Given the description of an element on the screen output the (x, y) to click on. 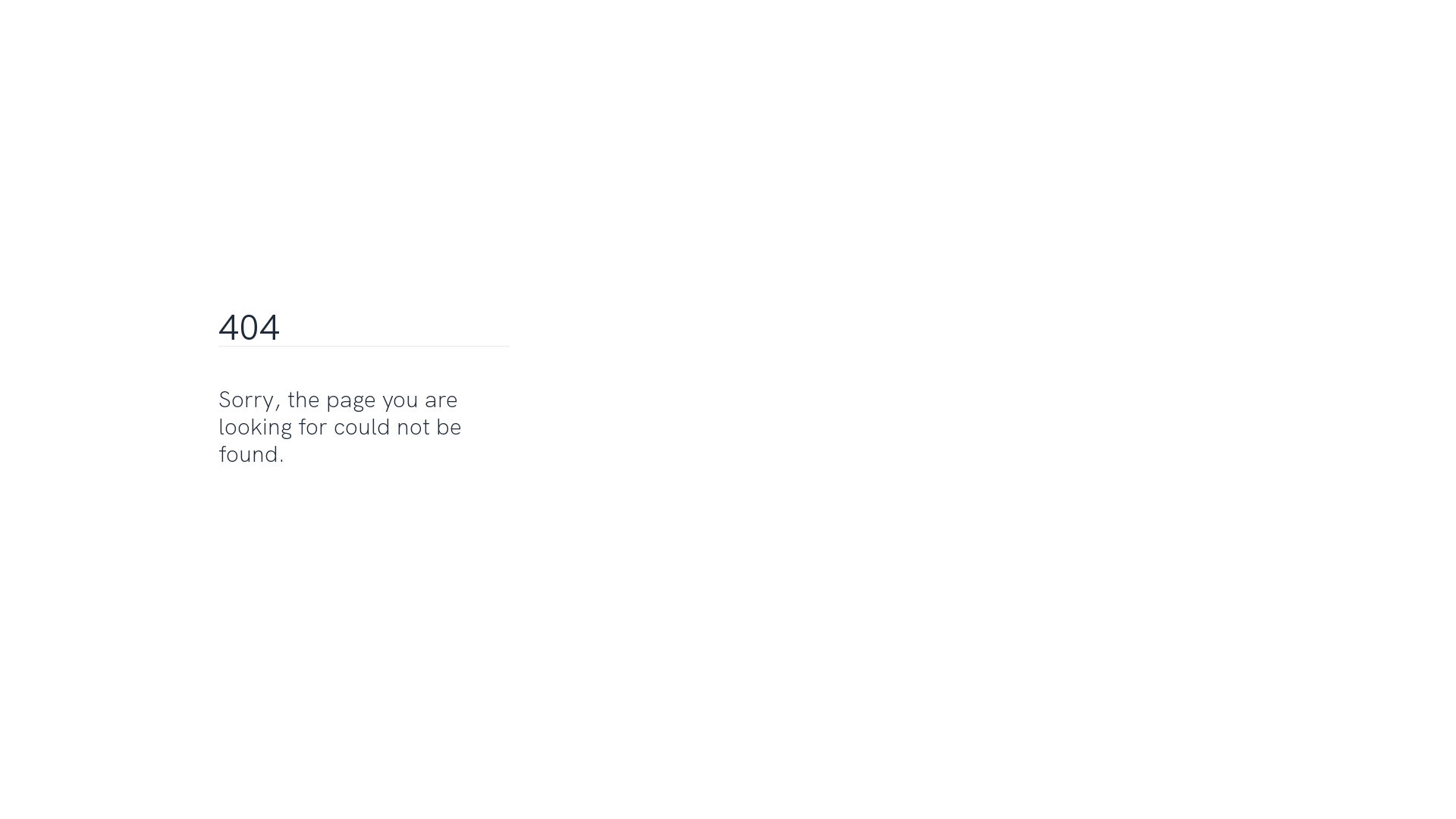
Go Home Element type: text (256, 500)
